Given the description of an element on the screen output the (x, y) to click on. 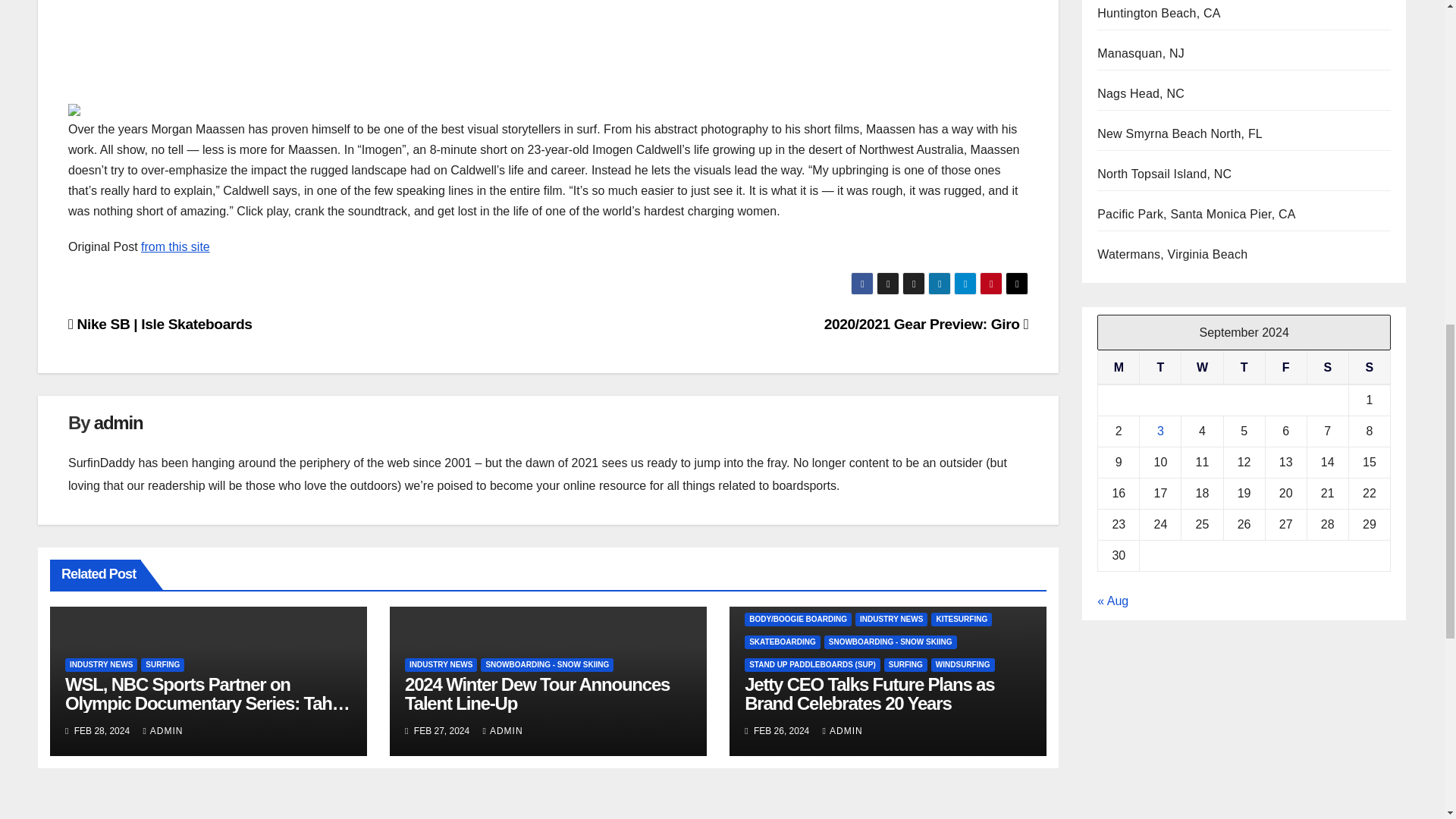
SURFING (162, 664)
admin (118, 422)
from this site (175, 246)
INDUSTRY NEWS (100, 664)
ADMIN (162, 730)
Permalink to: 2024 Winter Dew Tour Announces Talent Line-Up (536, 693)
